Given the description of an element on the screen output the (x, y) to click on. 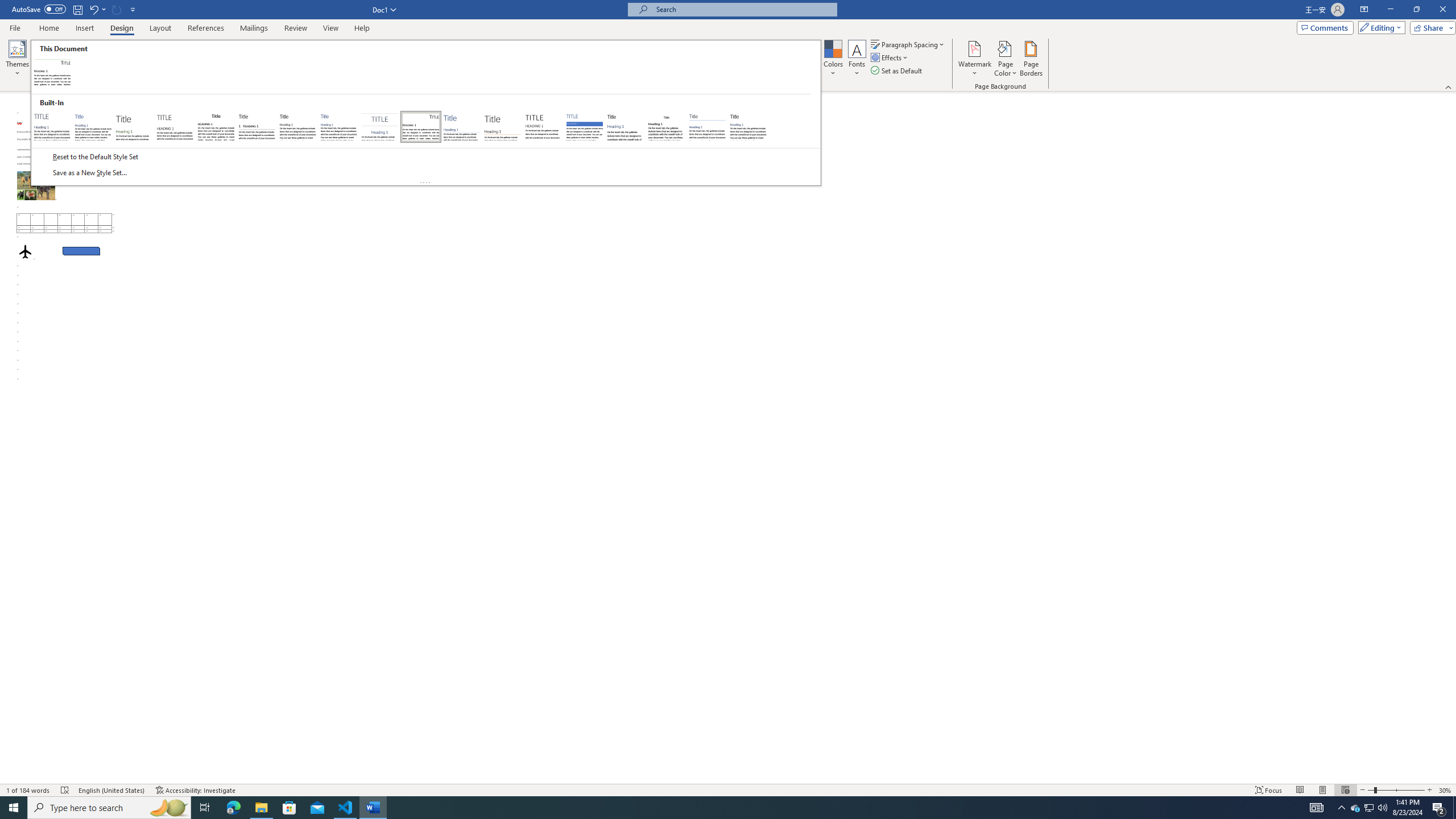
Set as Default (897, 69)
Page Color (1005, 58)
Undo Apply Quick Style Set (96, 9)
Undo Apply Quick Style Set (92, 9)
